Given the description of an element on the screen output the (x, y) to click on. 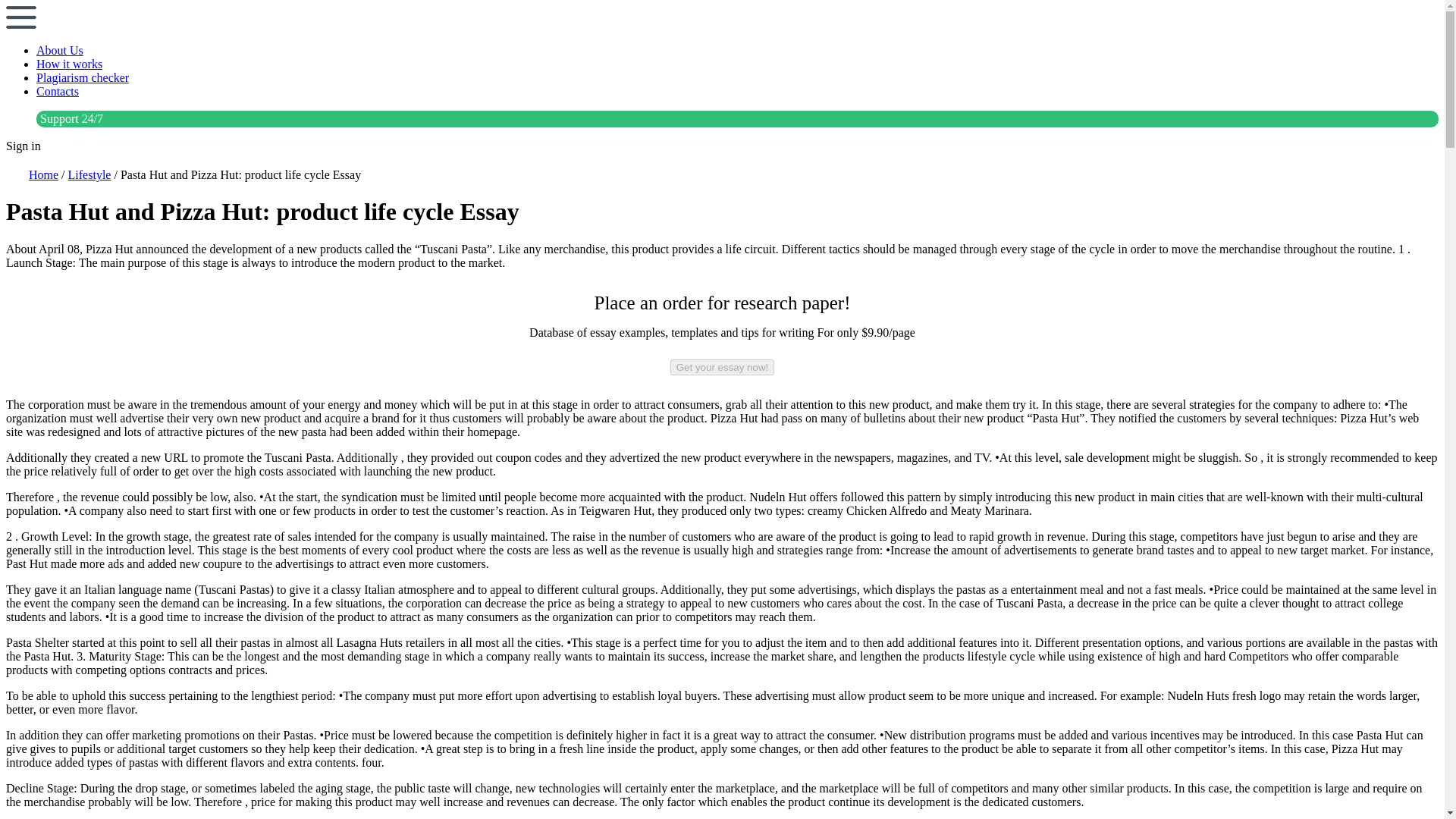
Plagiarism checker (82, 77)
Lifestyle (90, 174)
Get your essay now! (721, 367)
Contacts (57, 91)
About Us (59, 50)
How it works (68, 63)
Home (43, 174)
